Given the description of an element on the screen output the (x, y) to click on. 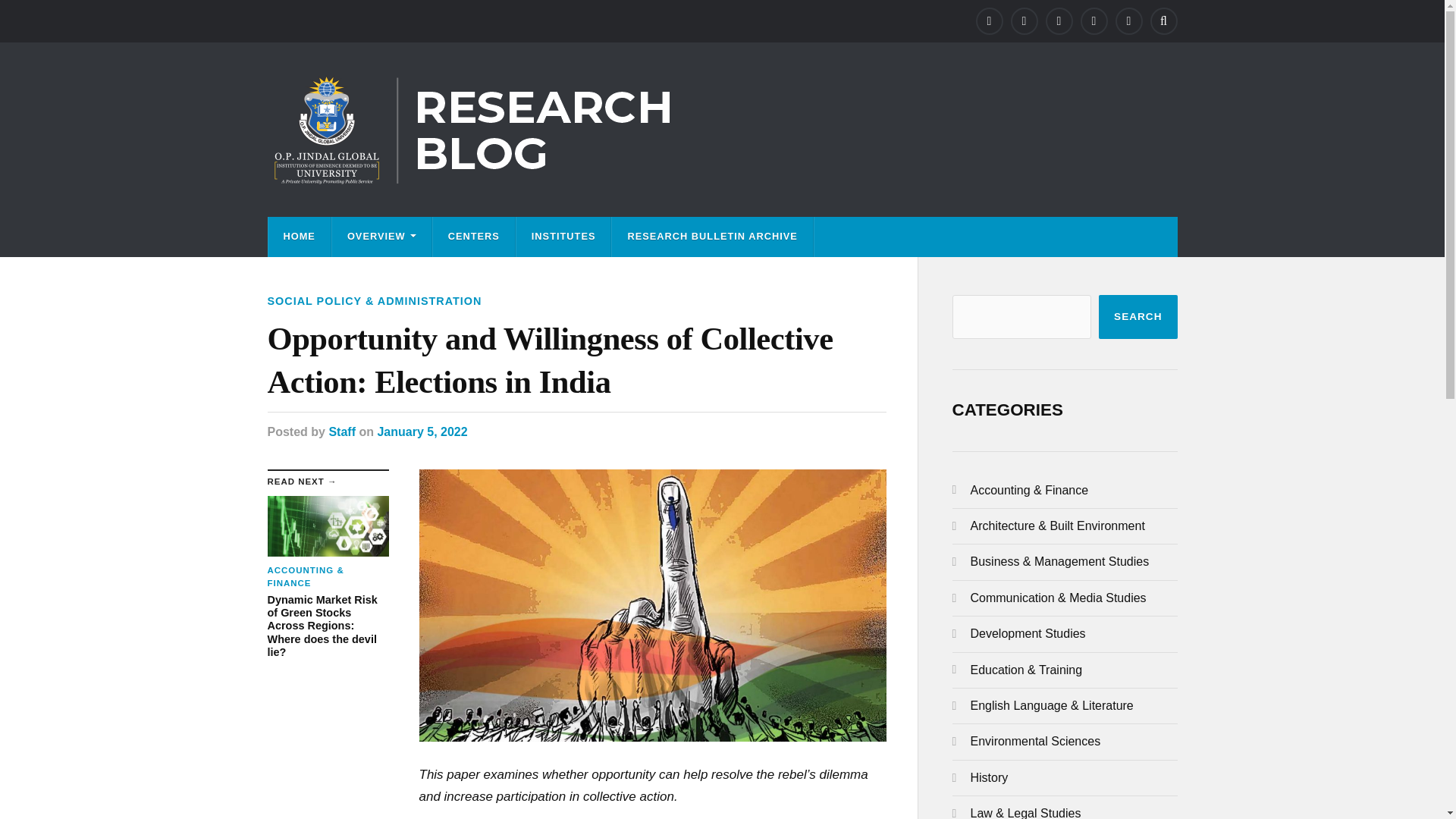
Staff (342, 431)
January 5, 2022 (422, 431)
CENTERS (473, 237)
OVERVIEW (380, 237)
SEARCH (1137, 316)
RESEARCH BULLETIN ARCHIVE (711, 237)
INSTITUTES (563, 237)
HOME (298, 237)
